Given the description of an element on the screen output the (x, y) to click on. 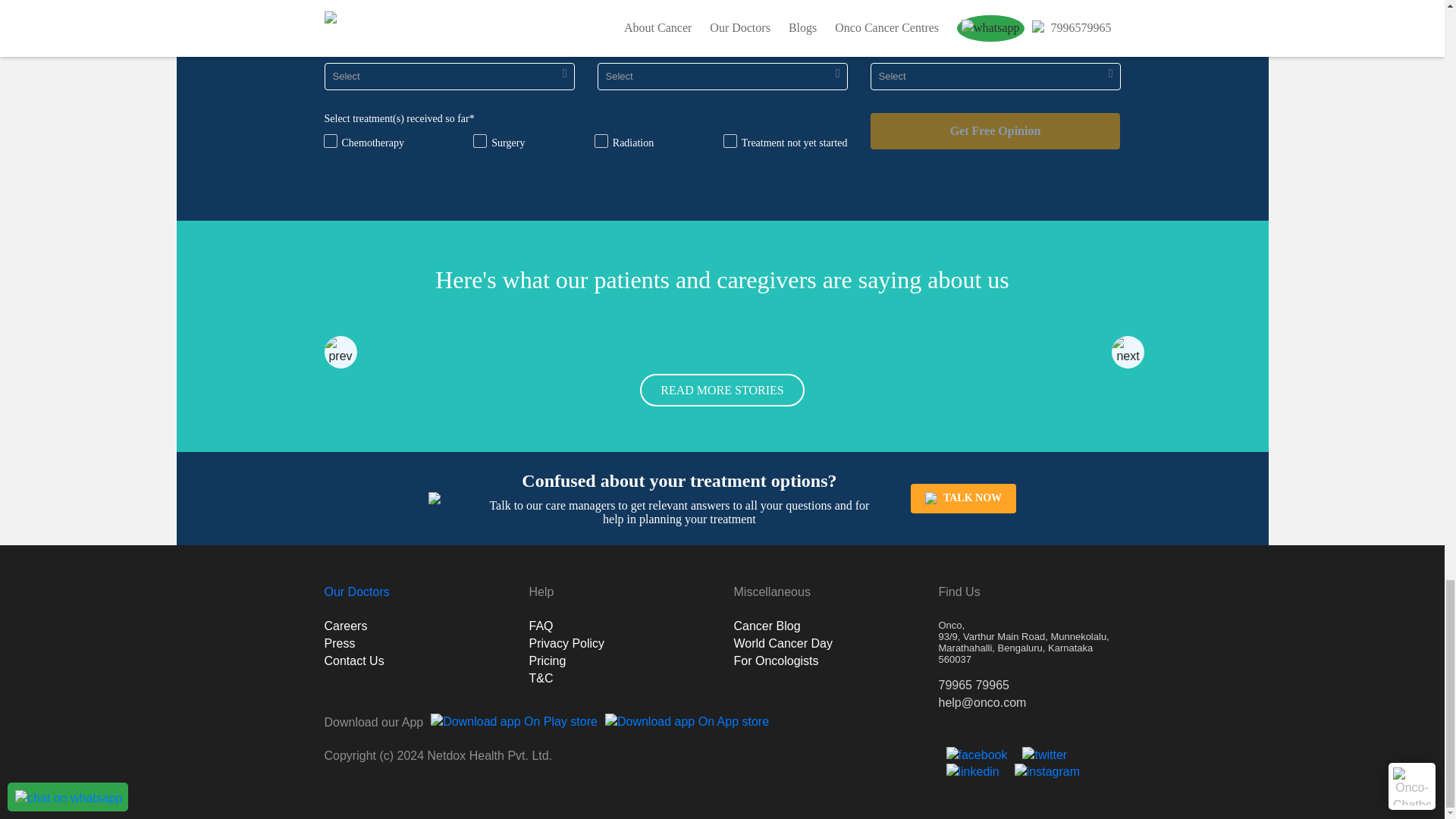
on (478, 141)
on (329, 141)
on (600, 141)
on (728, 141)
